Given the description of an element on the screen output the (x, y) to click on. 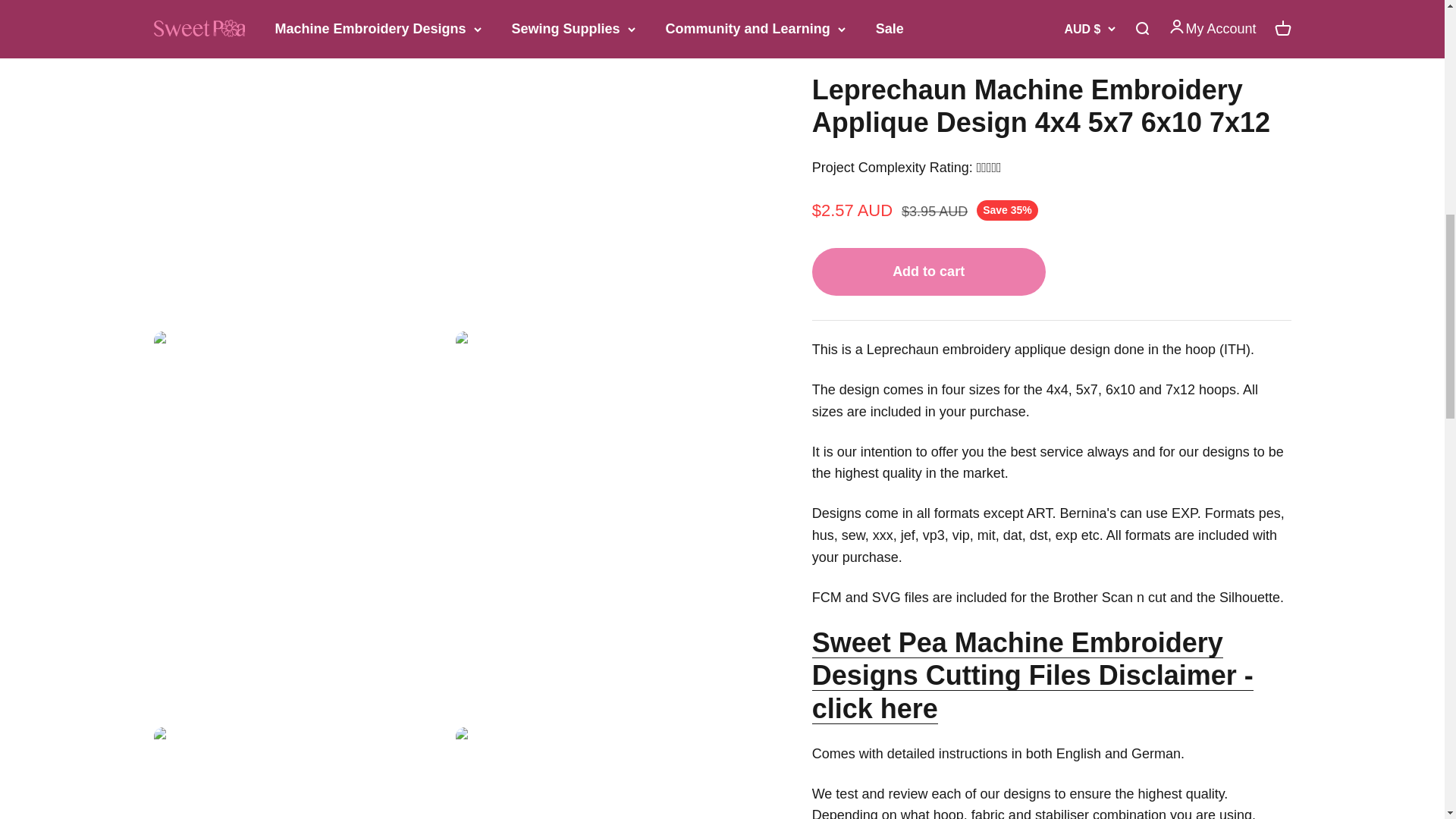
PayPal (956, 340)
Union Pay (989, 340)
American Express (826, 340)
Mastercard (924, 340)
Apple Pay (858, 340)
Google Pay (891, 340)
Visa (1021, 340)
